Given the description of an element on the screen output the (x, y) to click on. 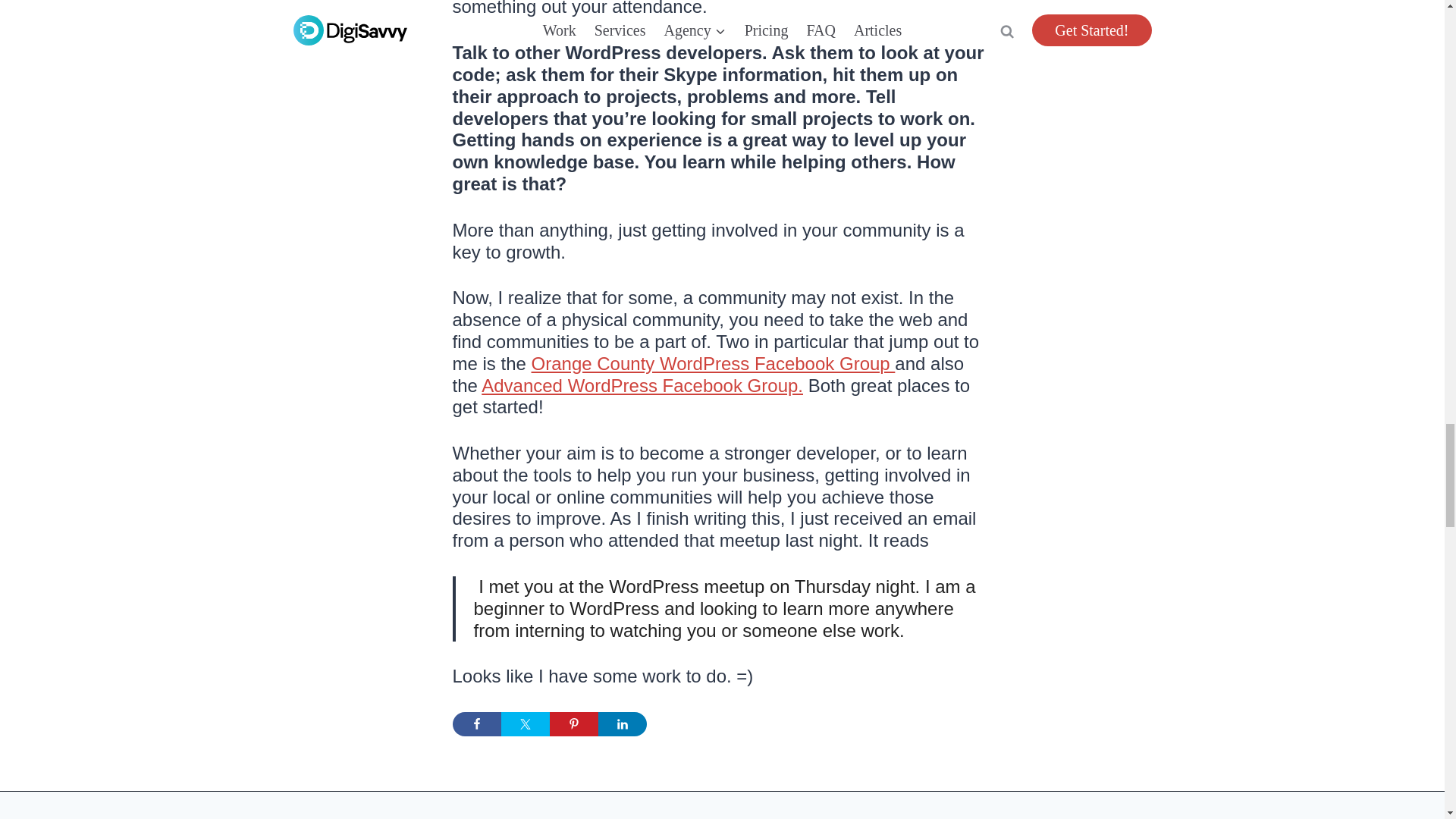
Share on Facebook (475, 723)
Orange County WordPress Facebook Group (713, 362)
Share on LinkedIn (621, 723)
Share on Pinterest (572, 723)
Share on Twitter (524, 723)
Advanced WordPress Facebook Group. (642, 384)
